Given the description of an element on the screen output the (x, y) to click on. 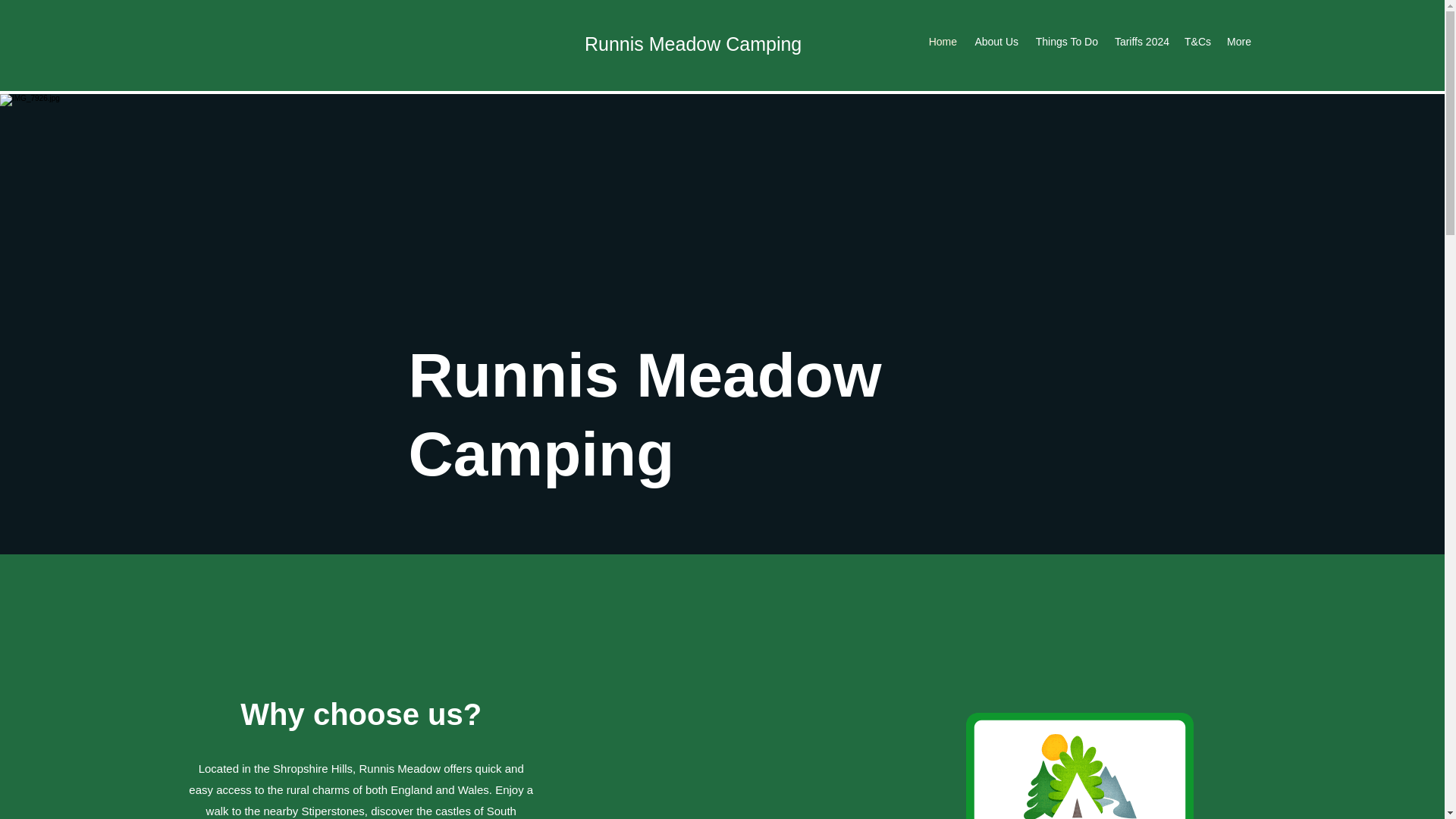
Things To Do (1065, 41)
Runnis Meadow Camping (693, 43)
unnamed.png (1079, 765)
Home (941, 41)
Tariffs 2024 (1140, 41)
About Us (994, 41)
